Given the description of an element on the screen output the (x, y) to click on. 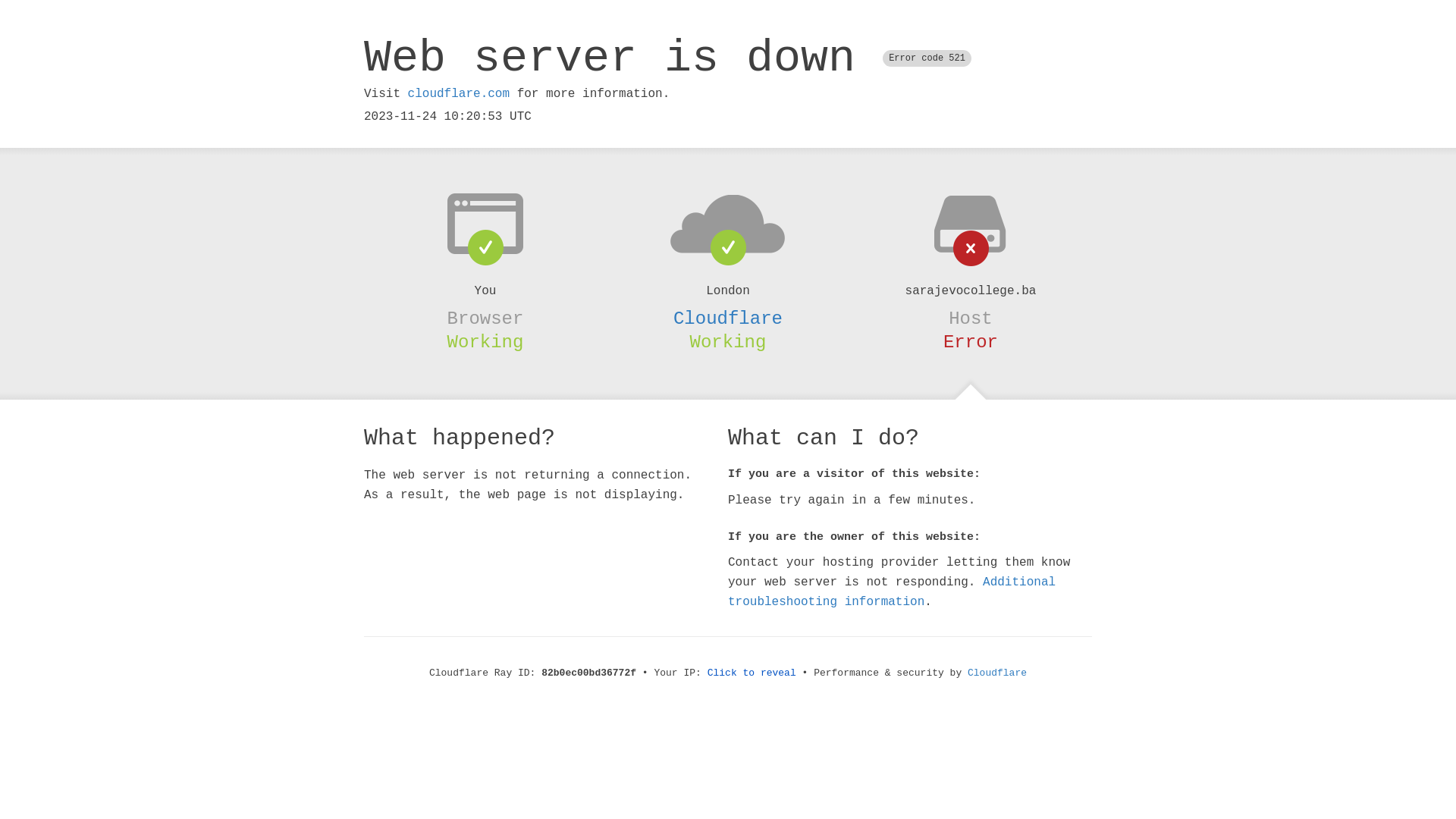
Cloudflare Element type: text (727, 318)
Cloudflare Element type: text (996, 672)
cloudflare.com Element type: text (458, 93)
Click to reveal Element type: text (751, 672)
Additional troubleshooting information Element type: text (891, 591)
